Given the description of an element on the screen output the (x, y) to click on. 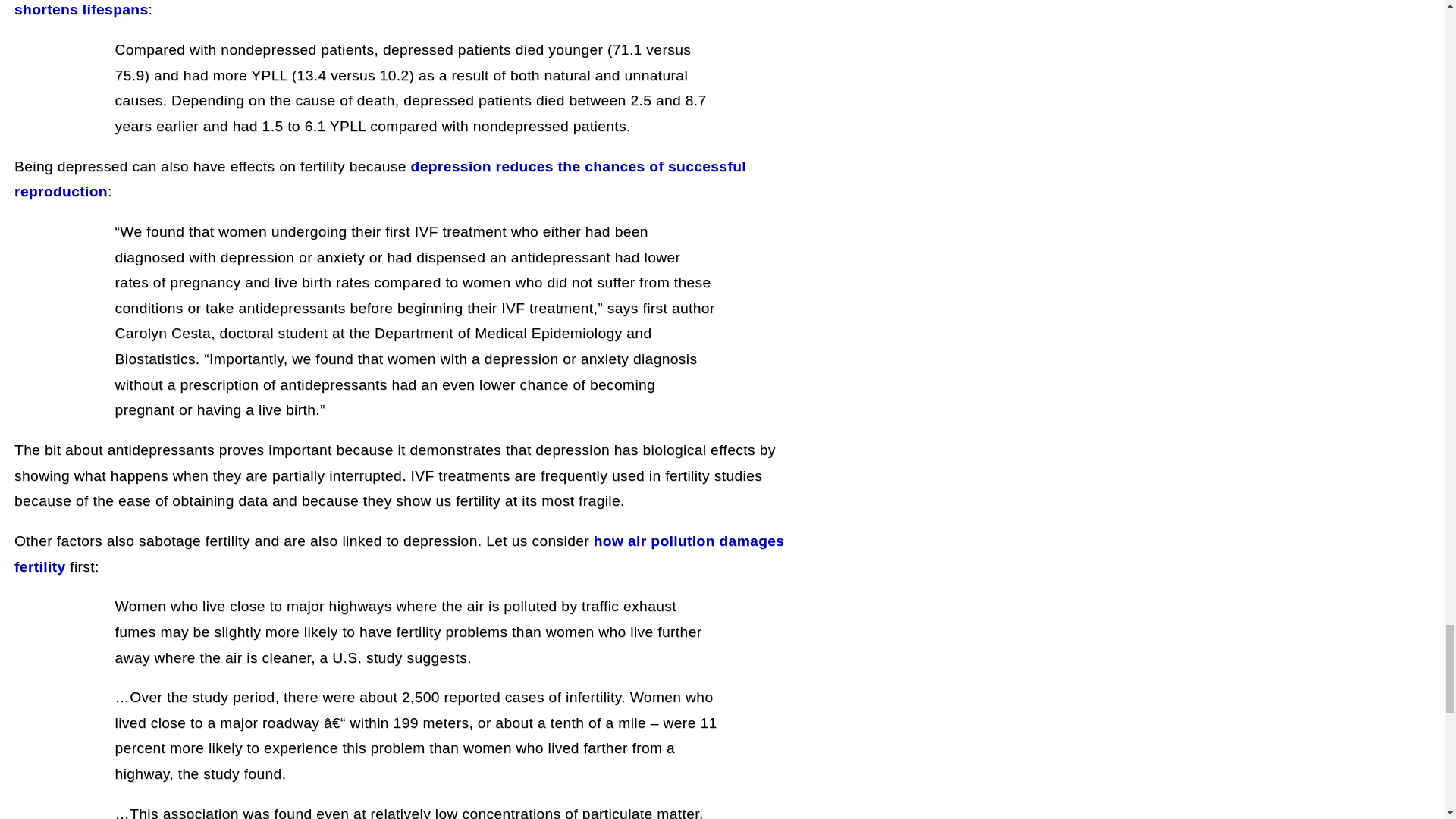
depression shortens lifespans (398, 9)
depression reduces the chances of successful reproduction (379, 178)
how air pollution damages fertility (399, 553)
